Given the description of an element on the screen output the (x, y) to click on. 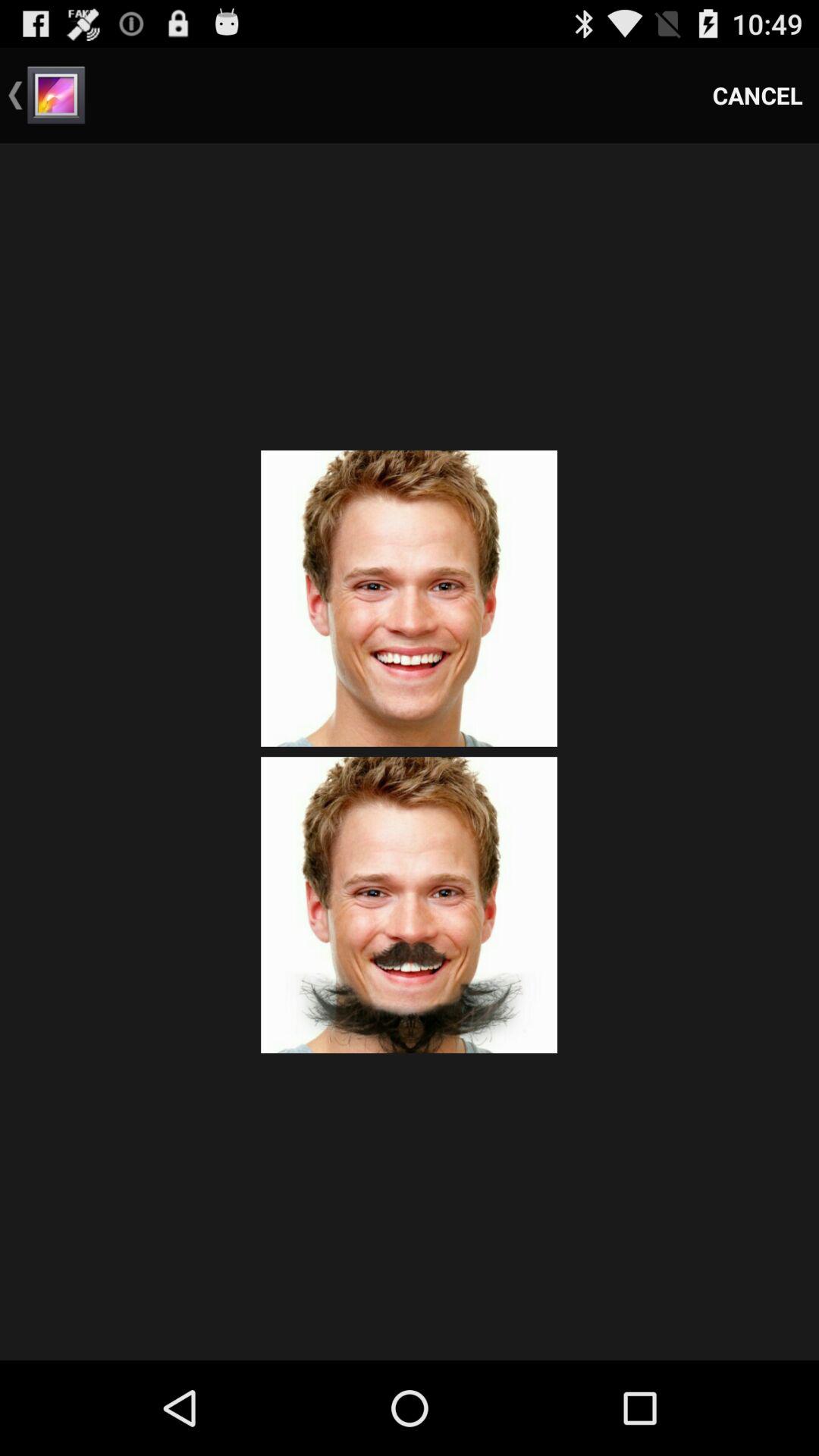
open the cancel at the top right corner (757, 95)
